Given the description of an element on the screen output the (x, y) to click on. 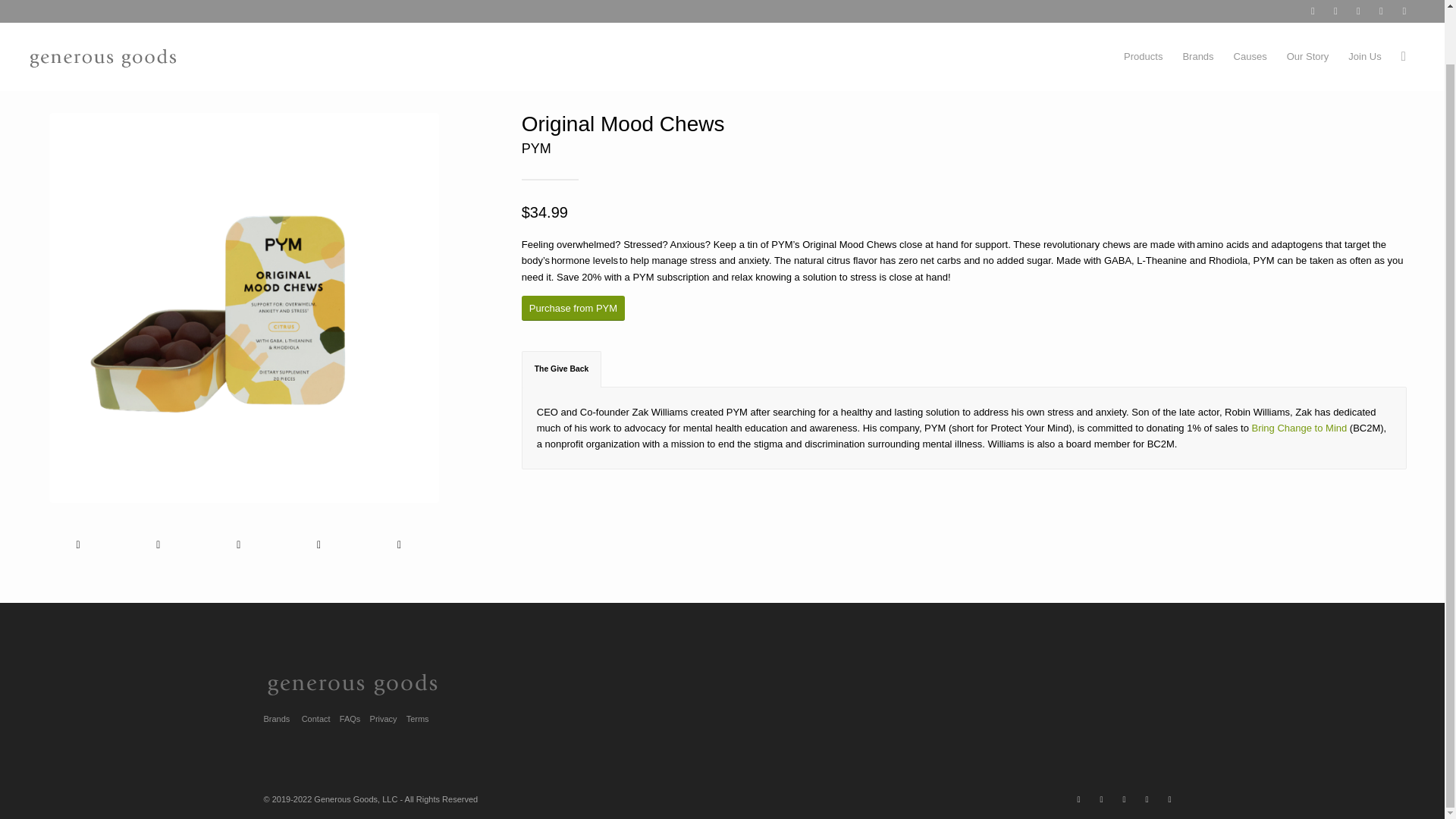
Nonprofits (936, 53)
Generous Goods (895, 53)
Bring Change to Mind (1006, 53)
Selfcare (1072, 53)
Products (1142, 16)
